Given the description of an element on the screen output the (x, y) to click on. 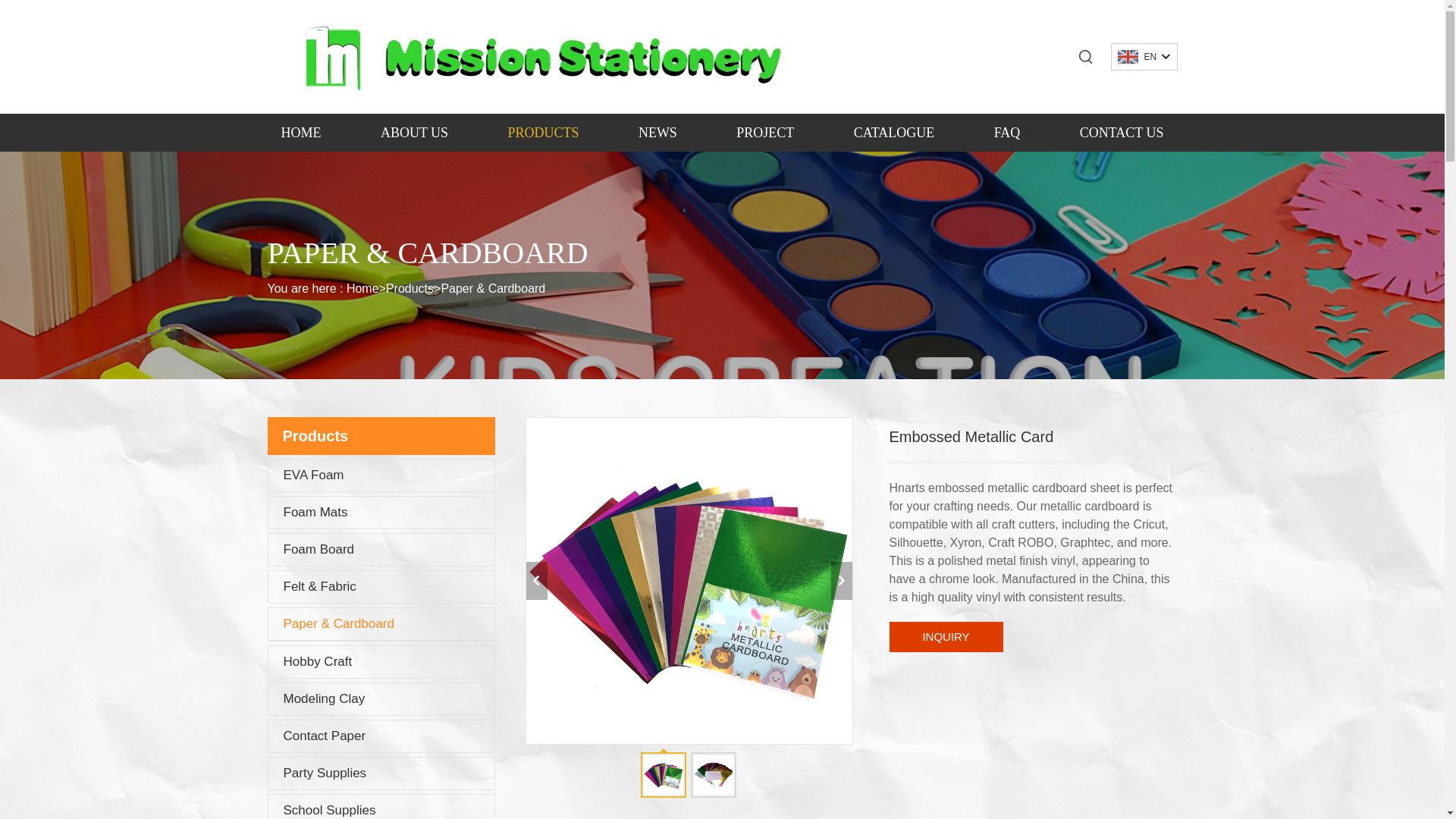
HOME (300, 132)
ABOUT US (413, 132)
